Given the description of an element on the screen output the (x, y) to click on. 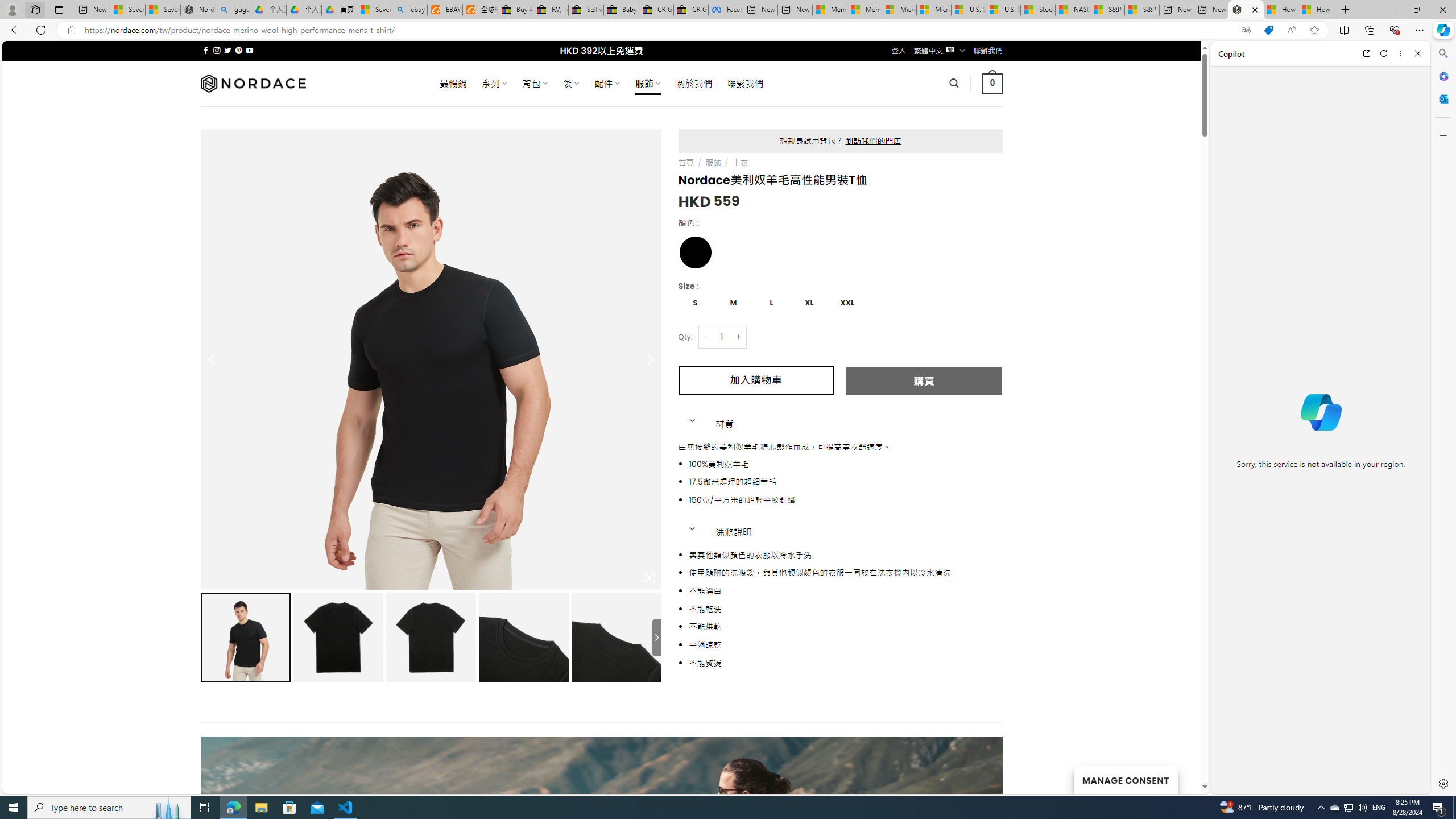
Baby Keepsakes & Announcements for sale | eBay (620, 9)
Buy Auto Parts & Accessories | eBay (515, 9)
Address and search bar (658, 29)
App bar (728, 29)
Microsoft 365 (1442, 76)
- (705, 336)
